Given the description of an element on the screen output the (x, y) to click on. 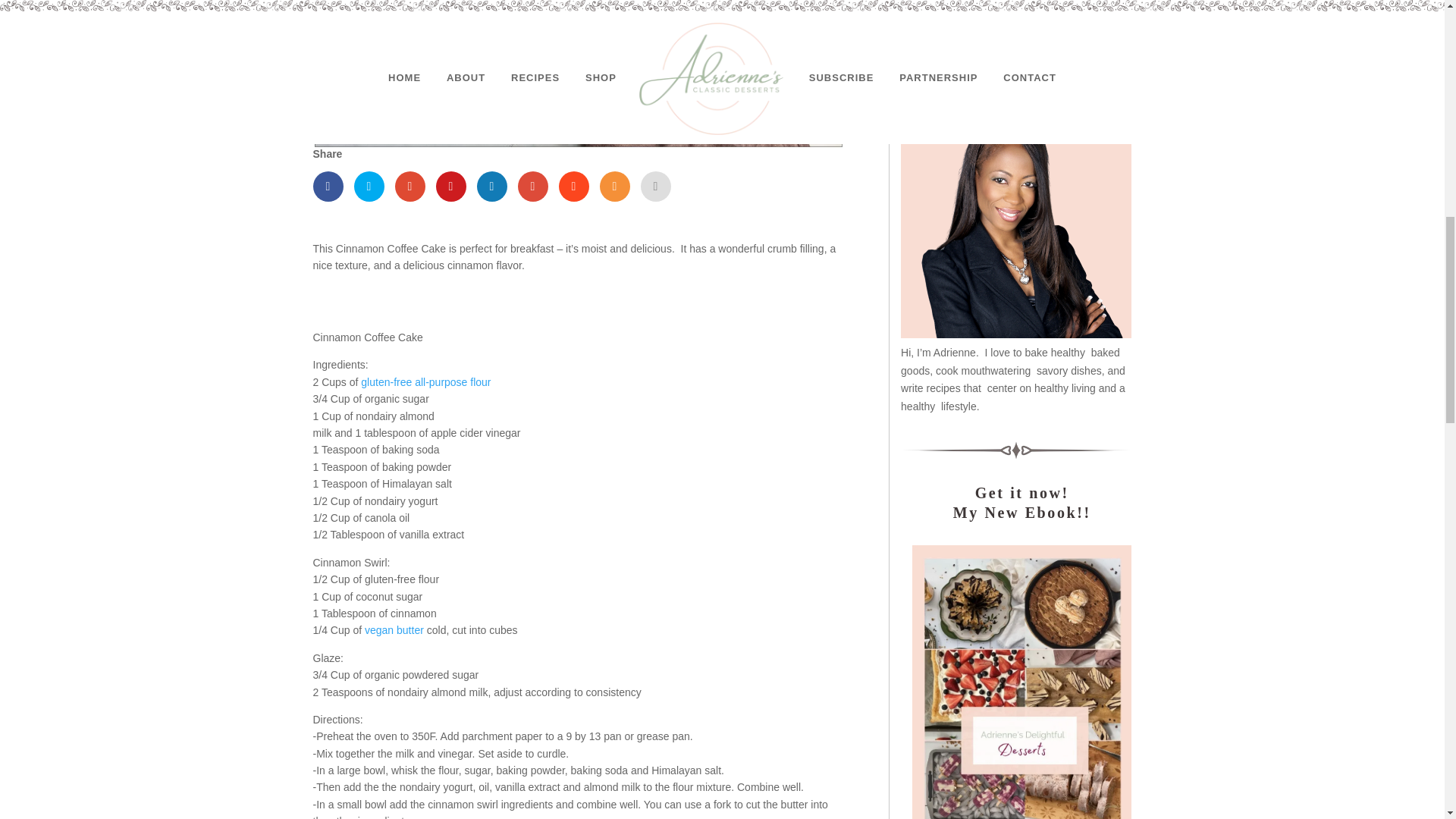
gluten-free all-purpose flour (425, 381)
Cinnamon Coffee Cake (578, 74)
Health Ads (1018, 38)
vegan butter (394, 630)
